Given the description of an element on the screen output the (x, y) to click on. 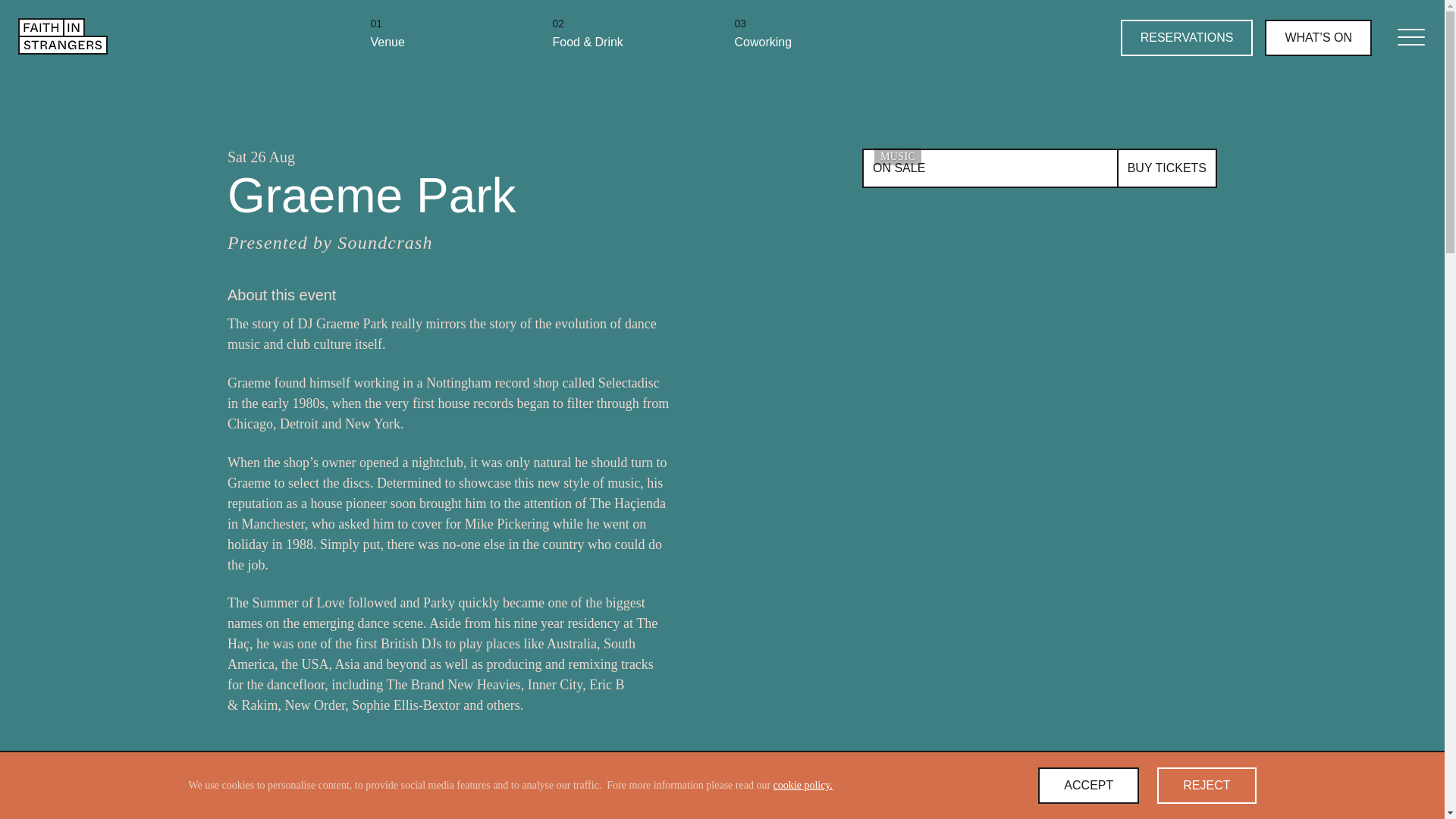
Buy tickets (1167, 168)
BUY TICKETS (1039, 168)
MUSIC (448, 31)
Subscribe (1167, 168)
